Given the description of an element on the screen output the (x, y) to click on. 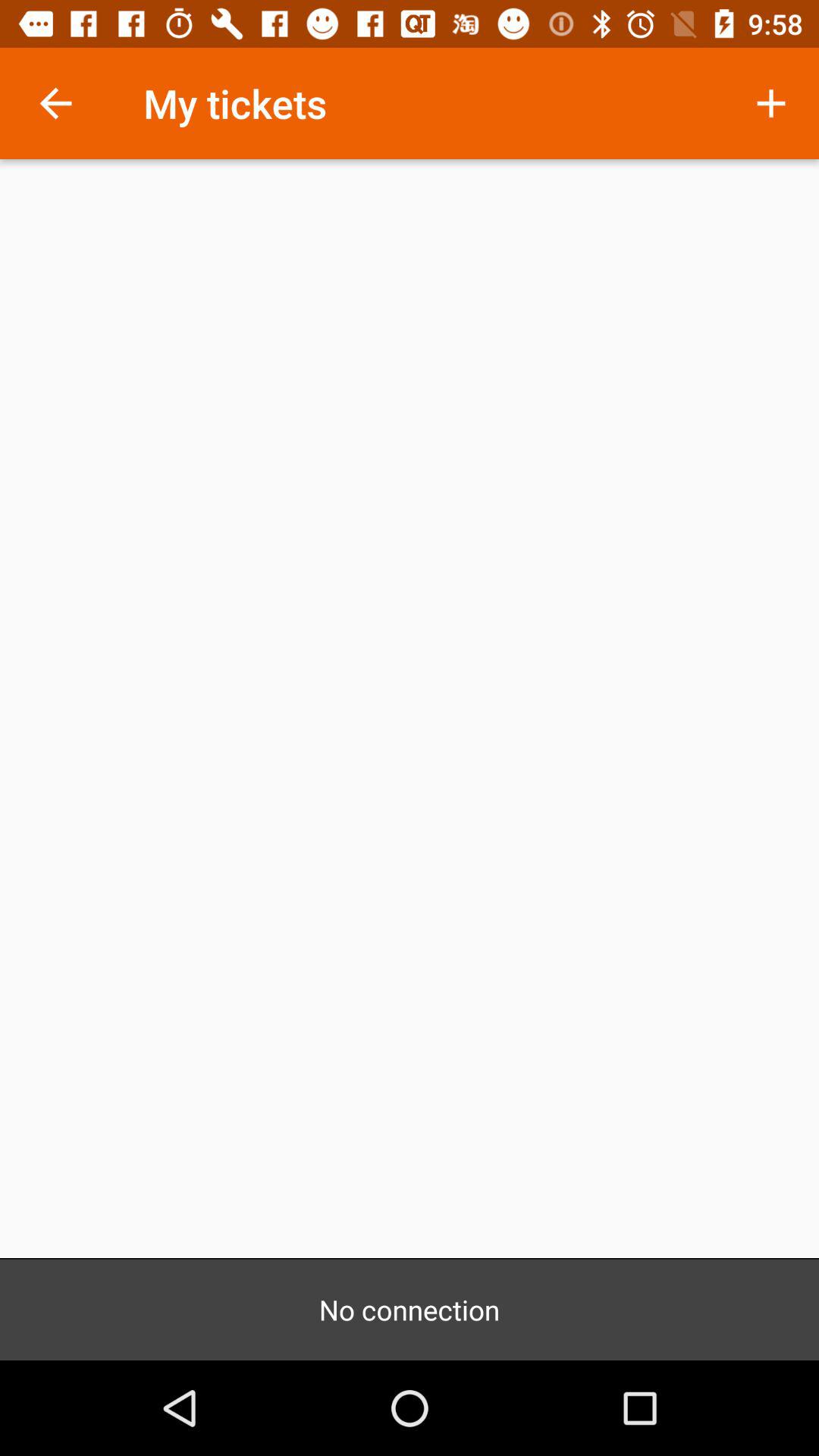
launch item at the top right corner (771, 103)
